Given the description of an element on the screen output the (x, y) to click on. 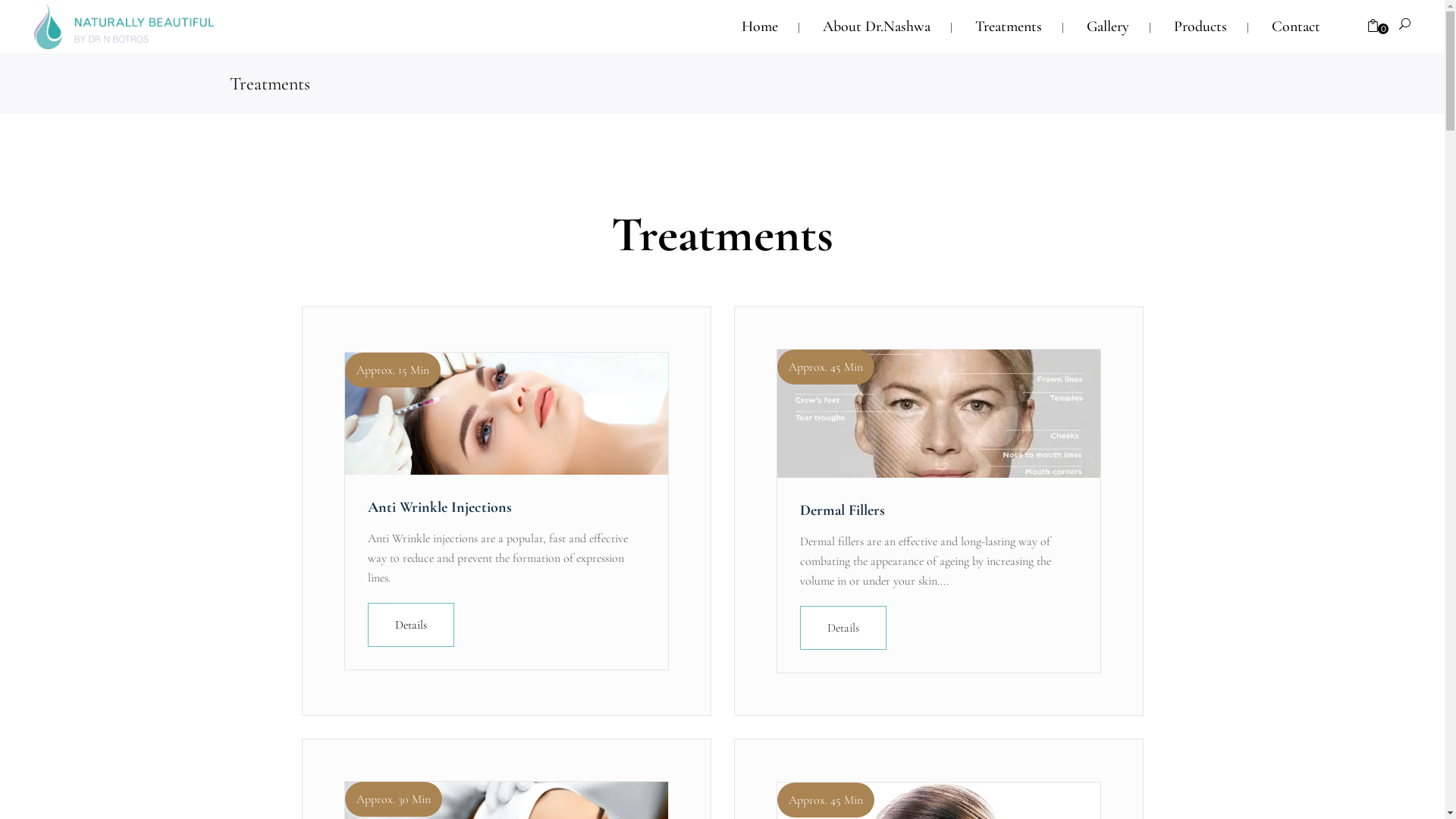
Refund and Returns Policy Element type: text (603, 576)
Subscribe Element type: text (1062, 661)
Dermal Fillers Element type: text (841, 510)
Treatments Element type: text (1008, 26)
Home Element type: text (759, 26)
Details Element type: text (410, 624)
Anti Wrinkle Injections Element type: text (439, 507)
0 Element type: text (1372, 26)
Contact Element type: text (1295, 26)
Products Element type: text (1200, 26)
03 9807 0022 Element type: text (265, 653)
About Dr.Nashwa Element type: text (876, 26)
Details Element type: text (842, 627)
Gallery Element type: text (1107, 26)
naturallybeautifulcc@gmail.com Element type: text (312, 676)
